Given the description of an element on the screen output the (x, y) to click on. 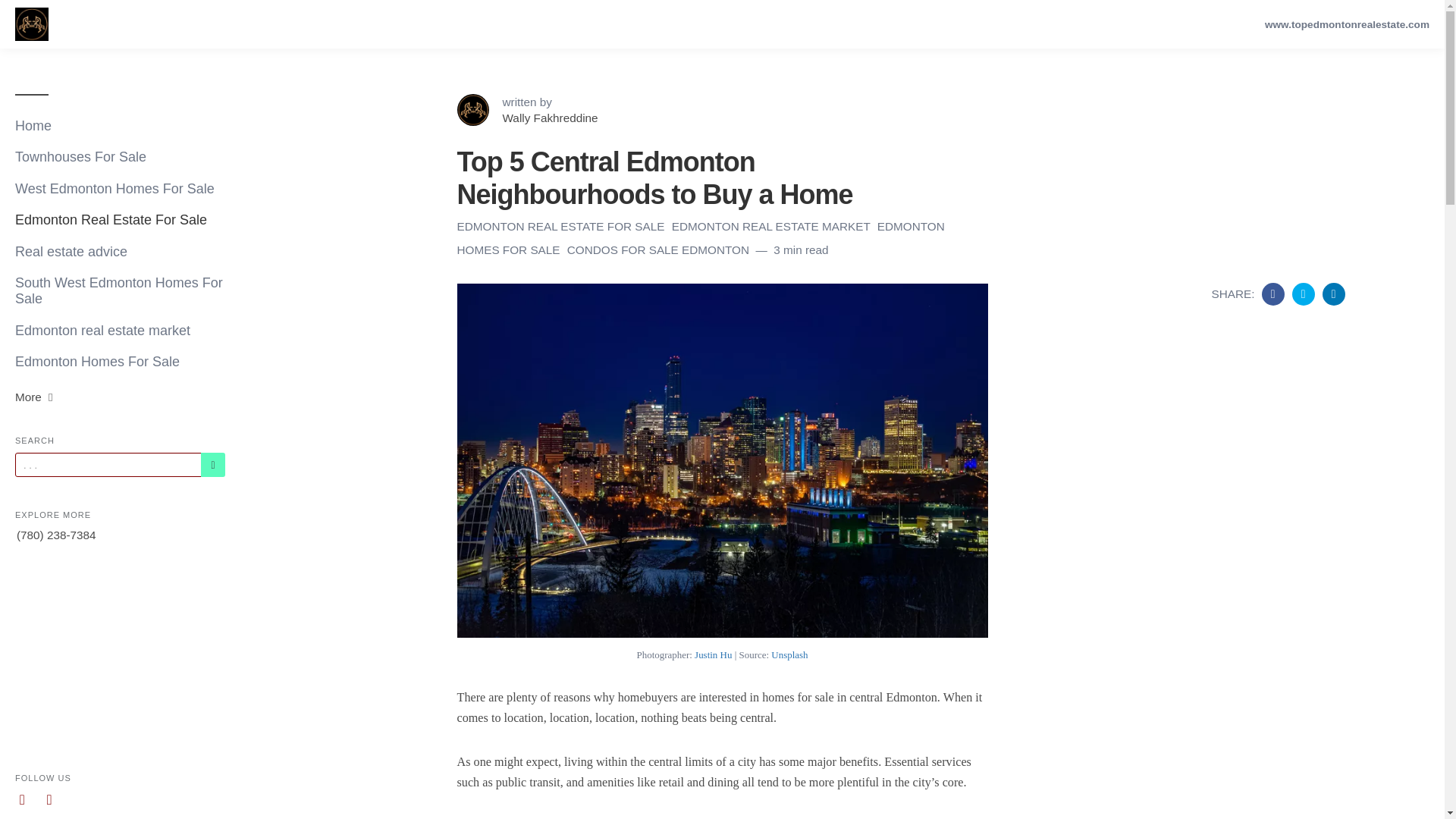
Edmonton Real Estate For Sale (119, 219)
Townhouses For Sale (119, 156)
West Edmonton Homes For Sale (119, 188)
www.topedmontonrealestate.com (1347, 24)
Top Edmonton Real Estate (31, 23)
Real estate advice (119, 251)
Home (119, 125)
